Given the description of an element on the screen output the (x, y) to click on. 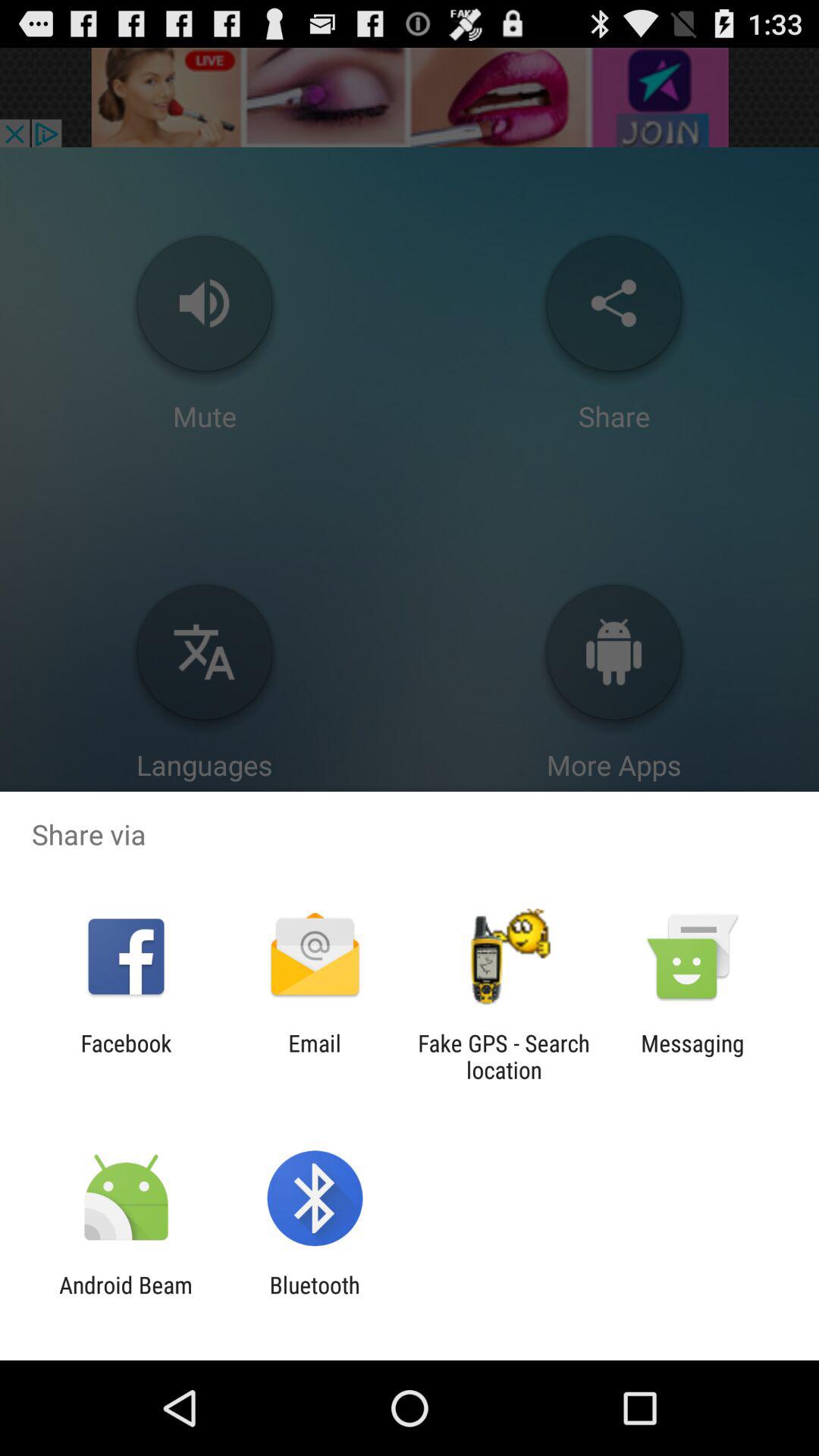
tap messaging (692, 1056)
